Given the description of an element on the screen output the (x, y) to click on. 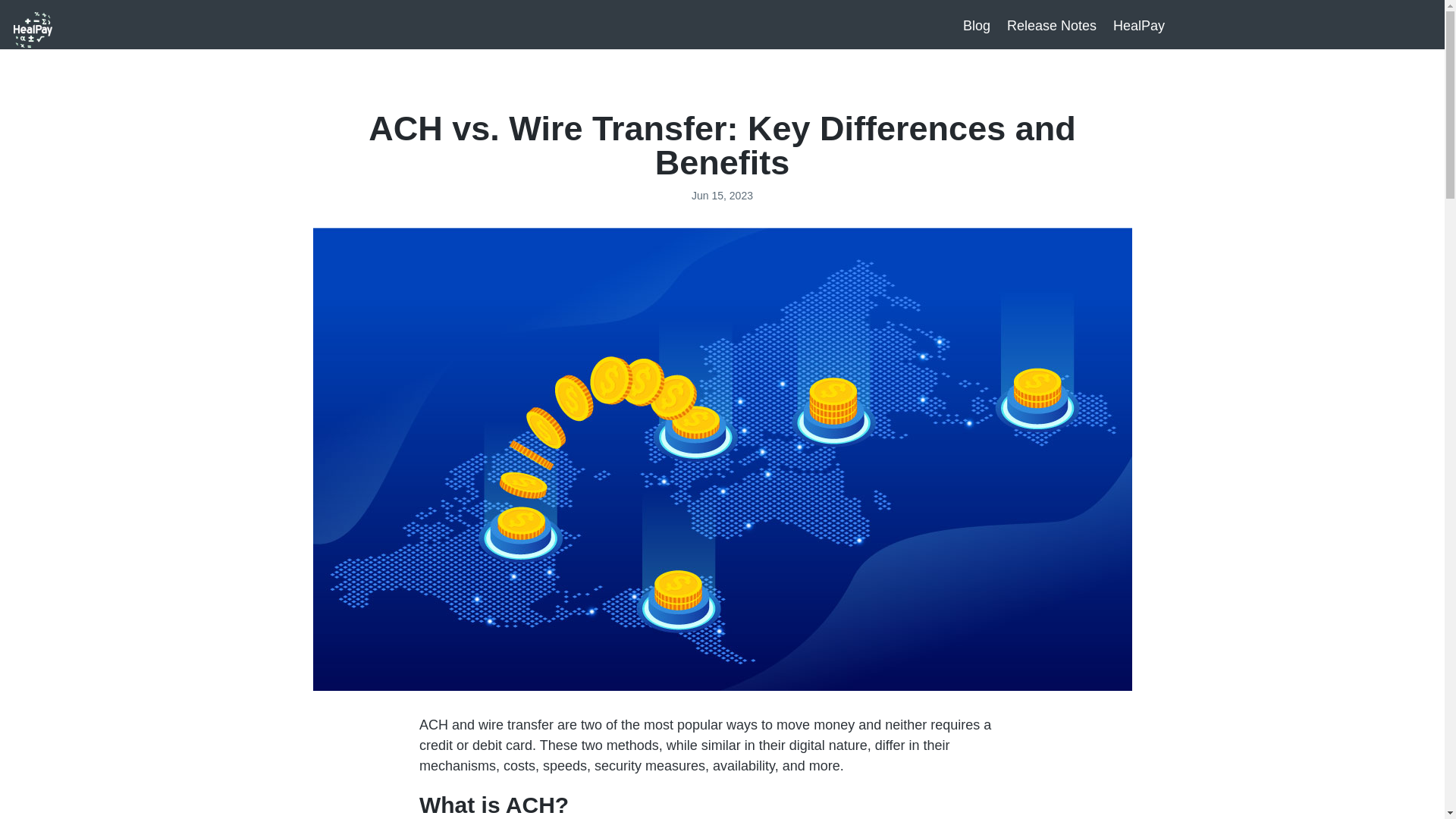
HealPay (1138, 29)
Release Notes (1051, 29)
Blog (976, 29)
